Given the description of an element on the screen output the (x, y) to click on. 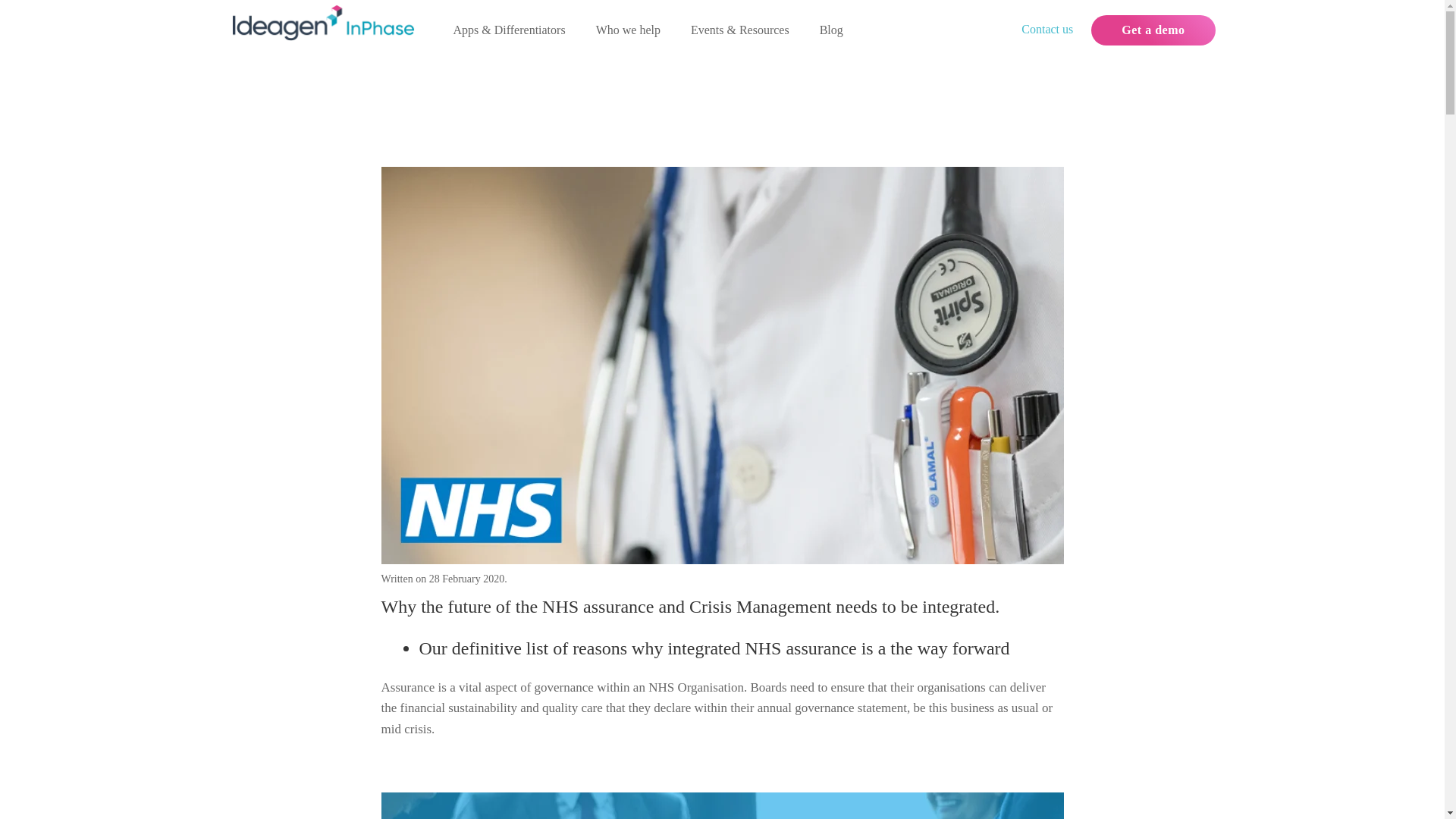
Contact us (1047, 29)
Get a demo (1152, 30)
Who we help (627, 30)
